Given the description of an element on the screen output the (x, y) to click on. 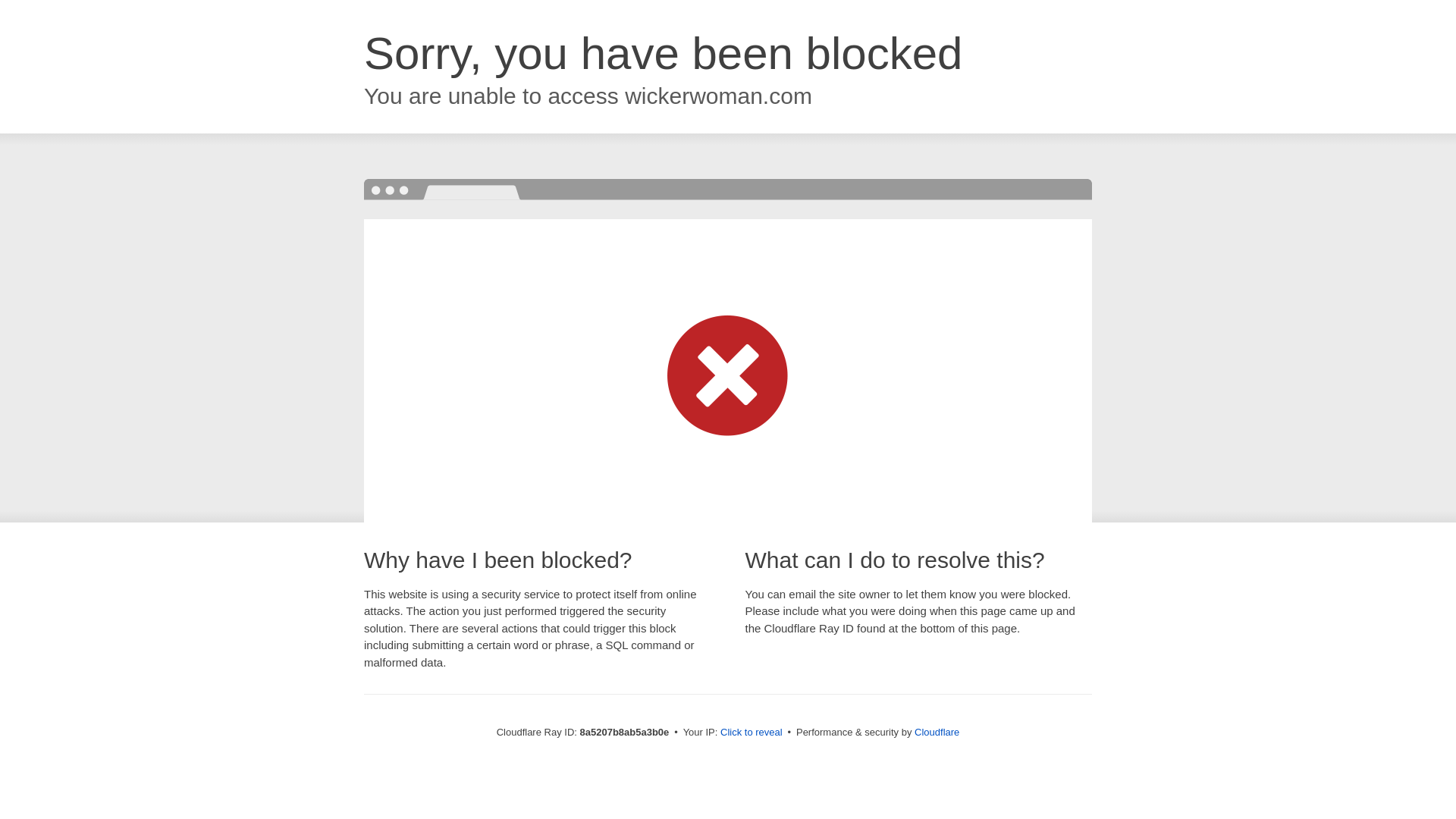
Click to reveal (751, 732)
Cloudflare (936, 731)
